Given the description of an element on the screen output the (x, y) to click on. 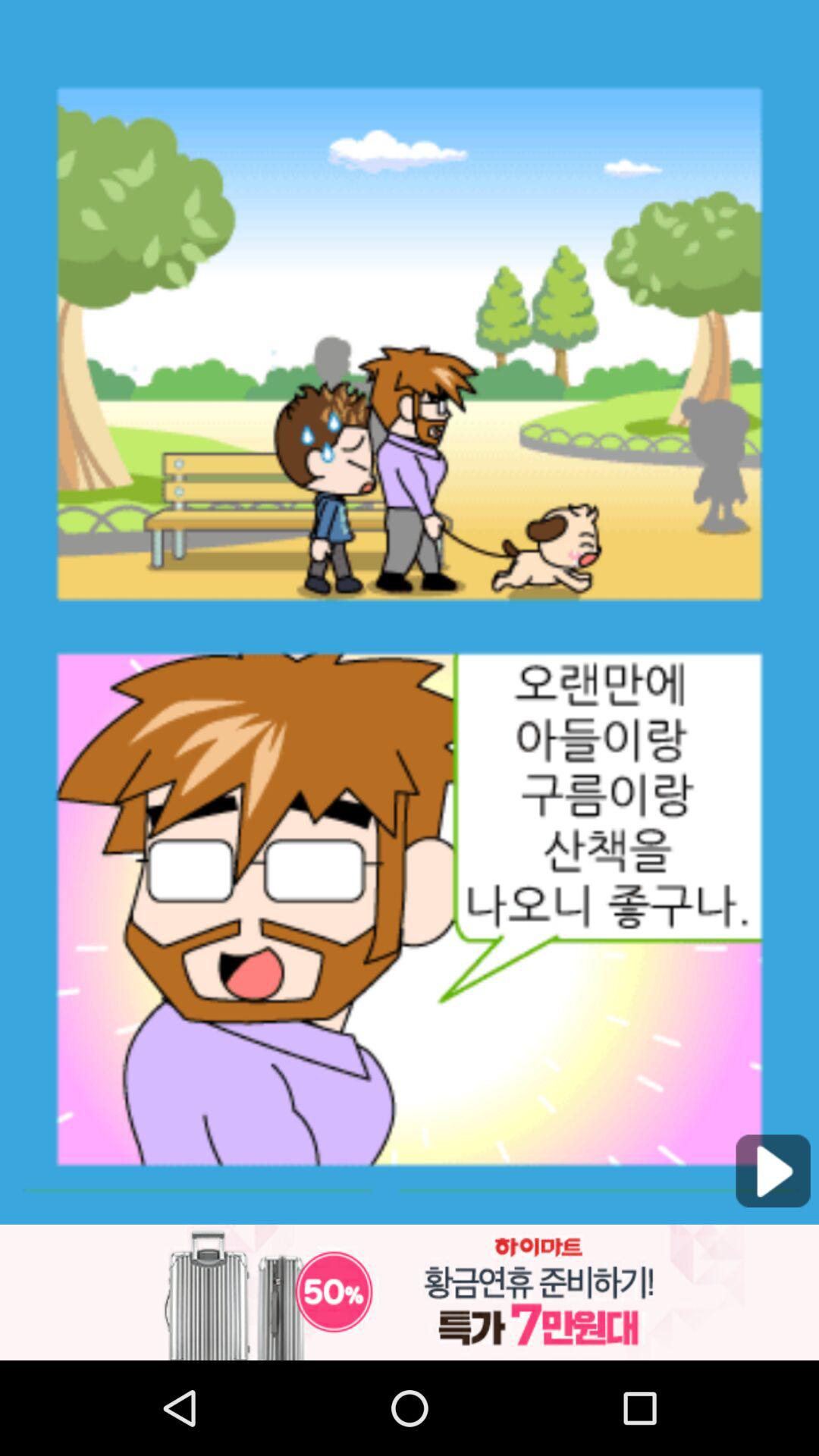
click the play option (772, 1170)
